Given the description of an element on the screen output the (x, y) to click on. 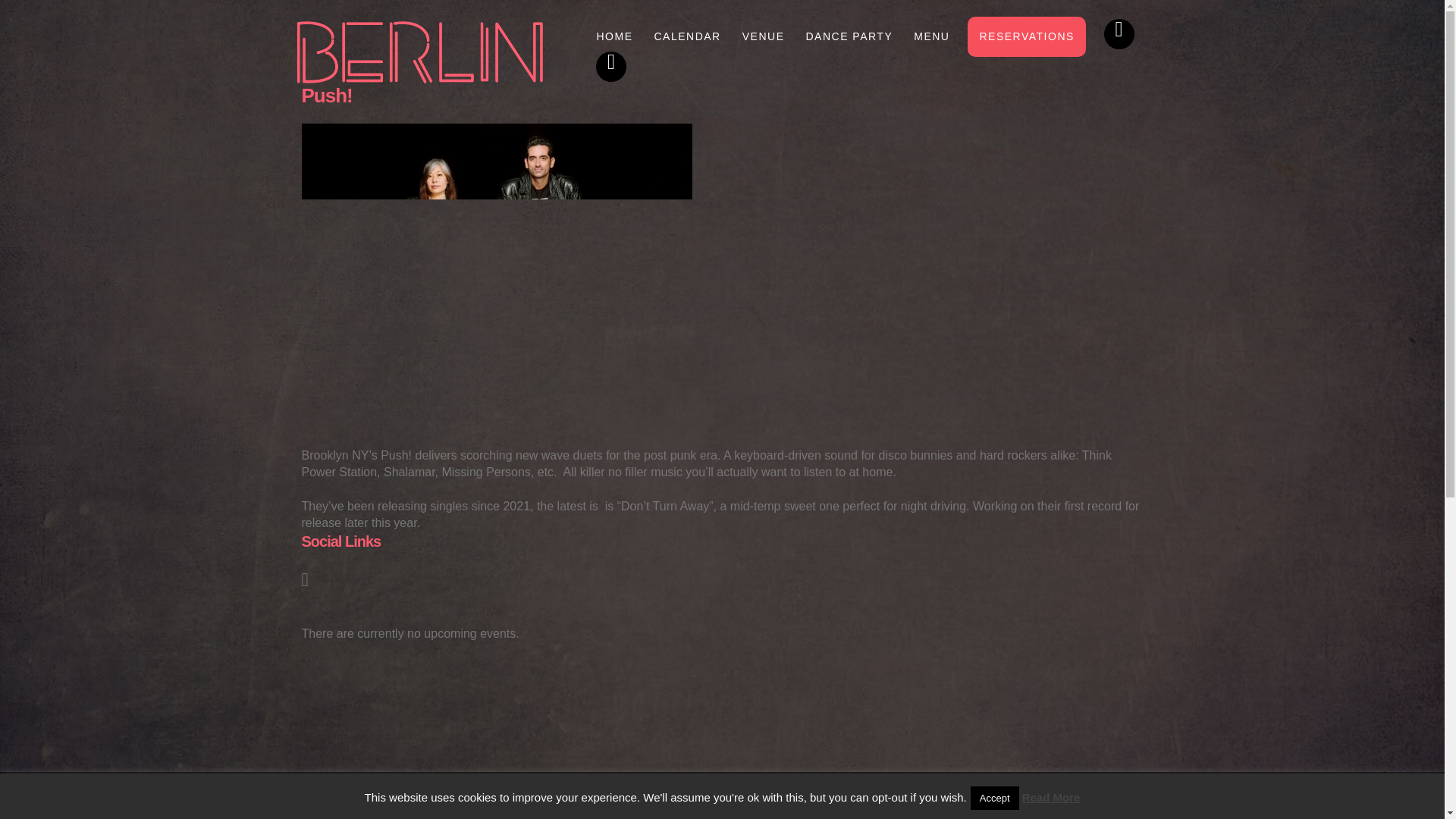
MENU (931, 36)
CALENDAR (686, 36)
HOME (613, 36)
Berlin NYC (419, 52)
VENUE (763, 36)
DANCE PARTY (848, 36)
Accept (995, 797)
Read More (1051, 797)
RESERVATIONS (1026, 36)
